Given the description of an element on the screen output the (x, y) to click on. 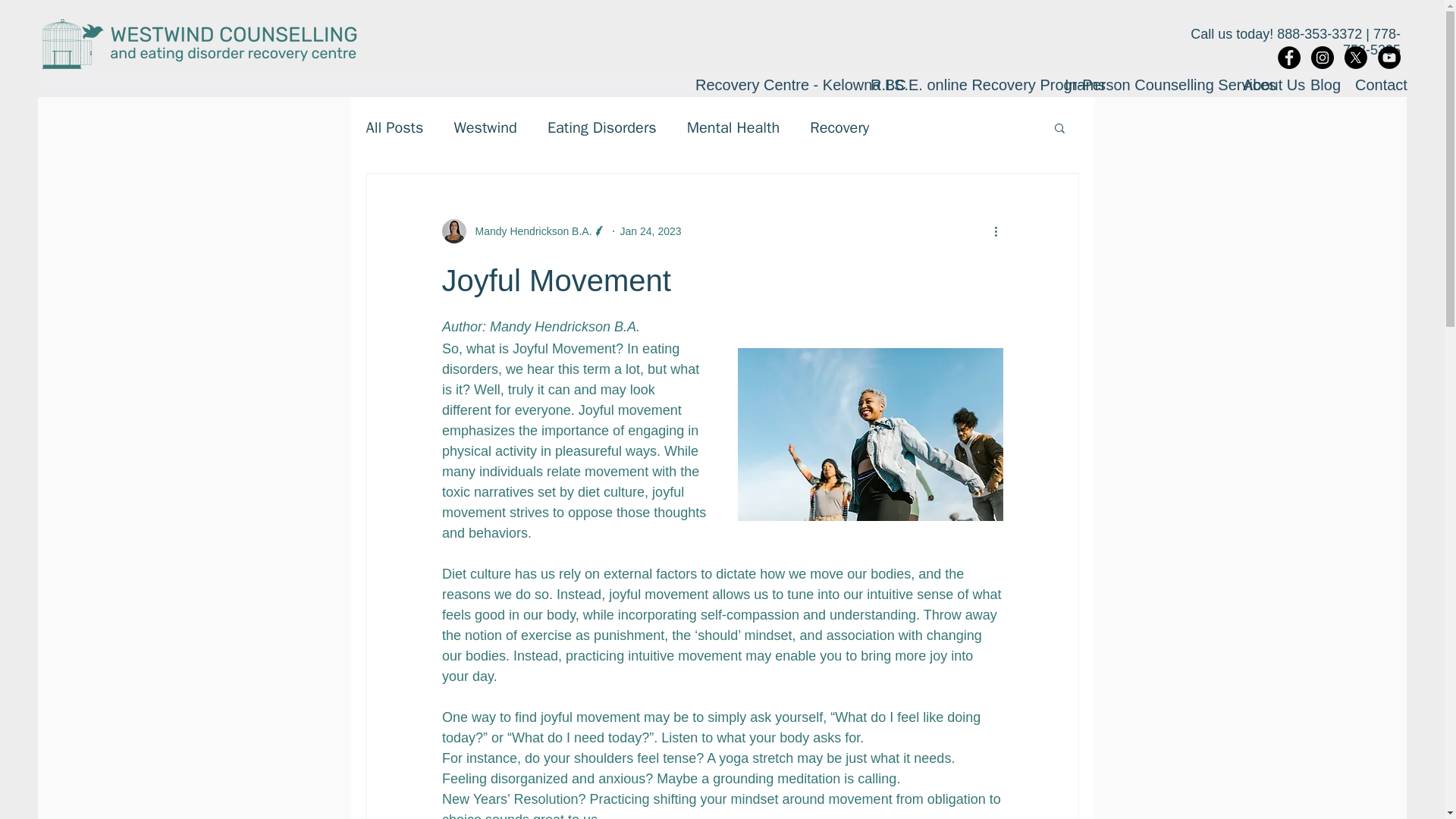
In-Person Counselling Services (1141, 84)
Mandy Hendrickson B.A. (528, 230)
return to main page (199, 43)
Mental Health (733, 127)
R.I.S.E. online Recovery Programs (955, 84)
Contact (1374, 84)
About Us (1264, 84)
Recovery Centre - Kelowna BC (771, 84)
Eating Disorders (601, 127)
Jan 24, 2023 (650, 230)
Blog (1320, 84)
All Posts (394, 127)
Recovery (839, 127)
Westwind (484, 127)
